Given the description of an element on the screen output the (x, y) to click on. 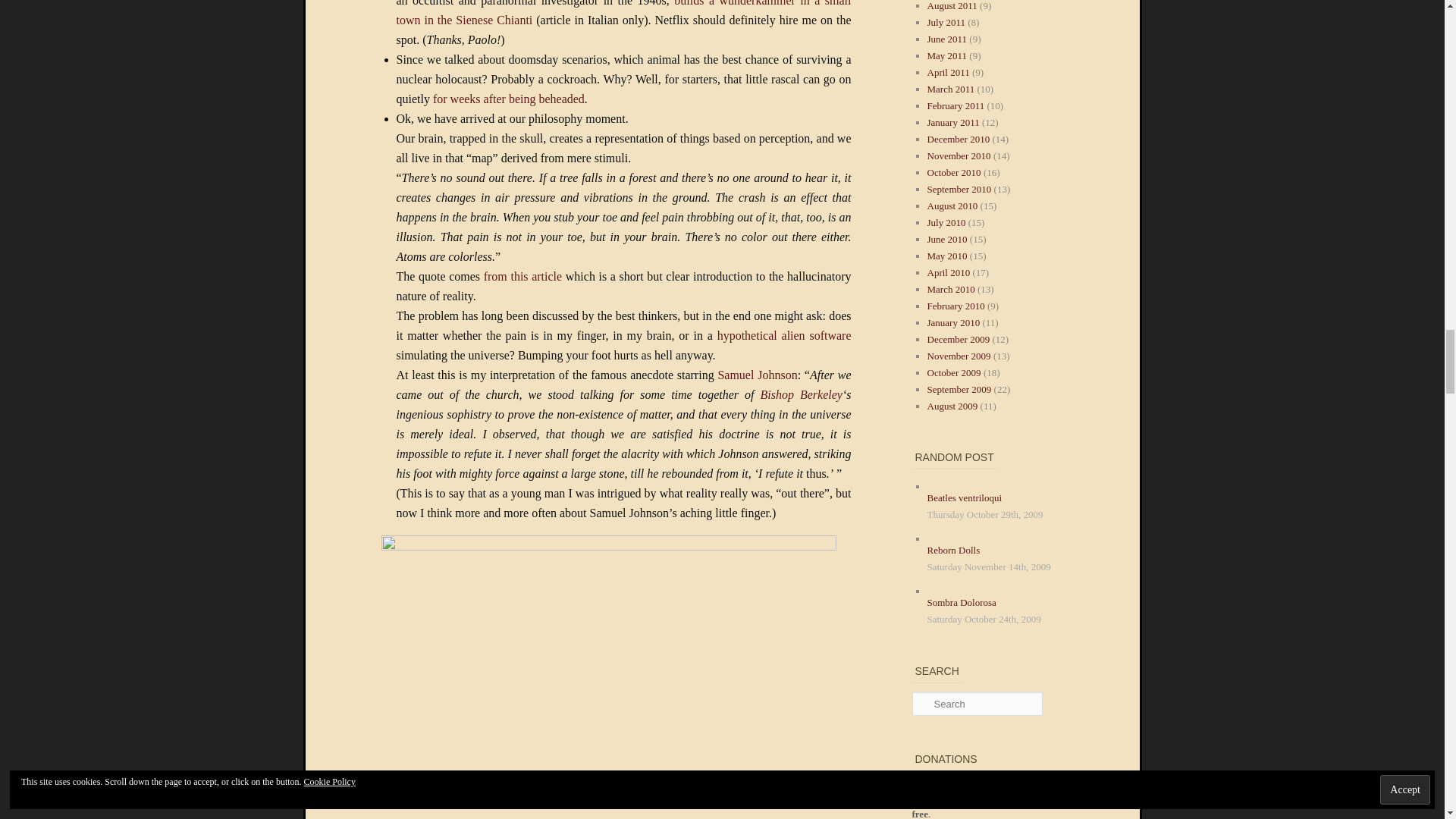
builds a wunderkammer in a small town in the Sienese Chianti (623, 13)
hypothetical alien software (784, 335)
Samuel Johnson (756, 374)
for weeks after being beheaded (508, 98)
from this article (522, 276)
Bishop Berkeley (801, 394)
